Given the description of an element on the screen output the (x, y) to click on. 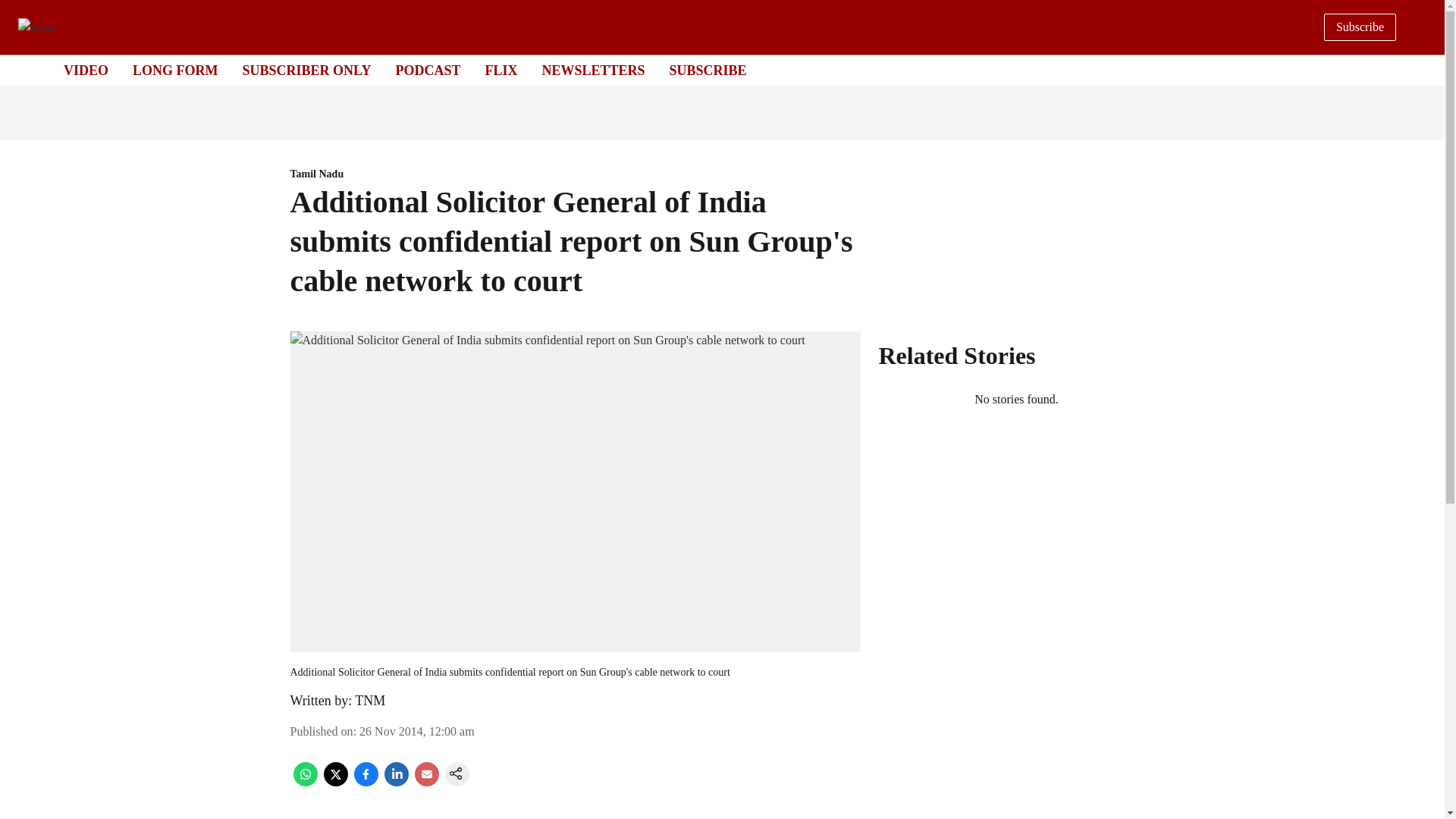
SUBSCRIBER ONLY (307, 70)
NEWSLETTERS (593, 70)
LONG FORM (175, 70)
2014-11-26 00:00 (416, 730)
VIDEO (85, 70)
TNM (370, 700)
PODCAST (427, 70)
Tamil Nadu (574, 174)
SUBSCRIBE (707, 70)
